Given the description of an element on the screen output the (x, y) to click on. 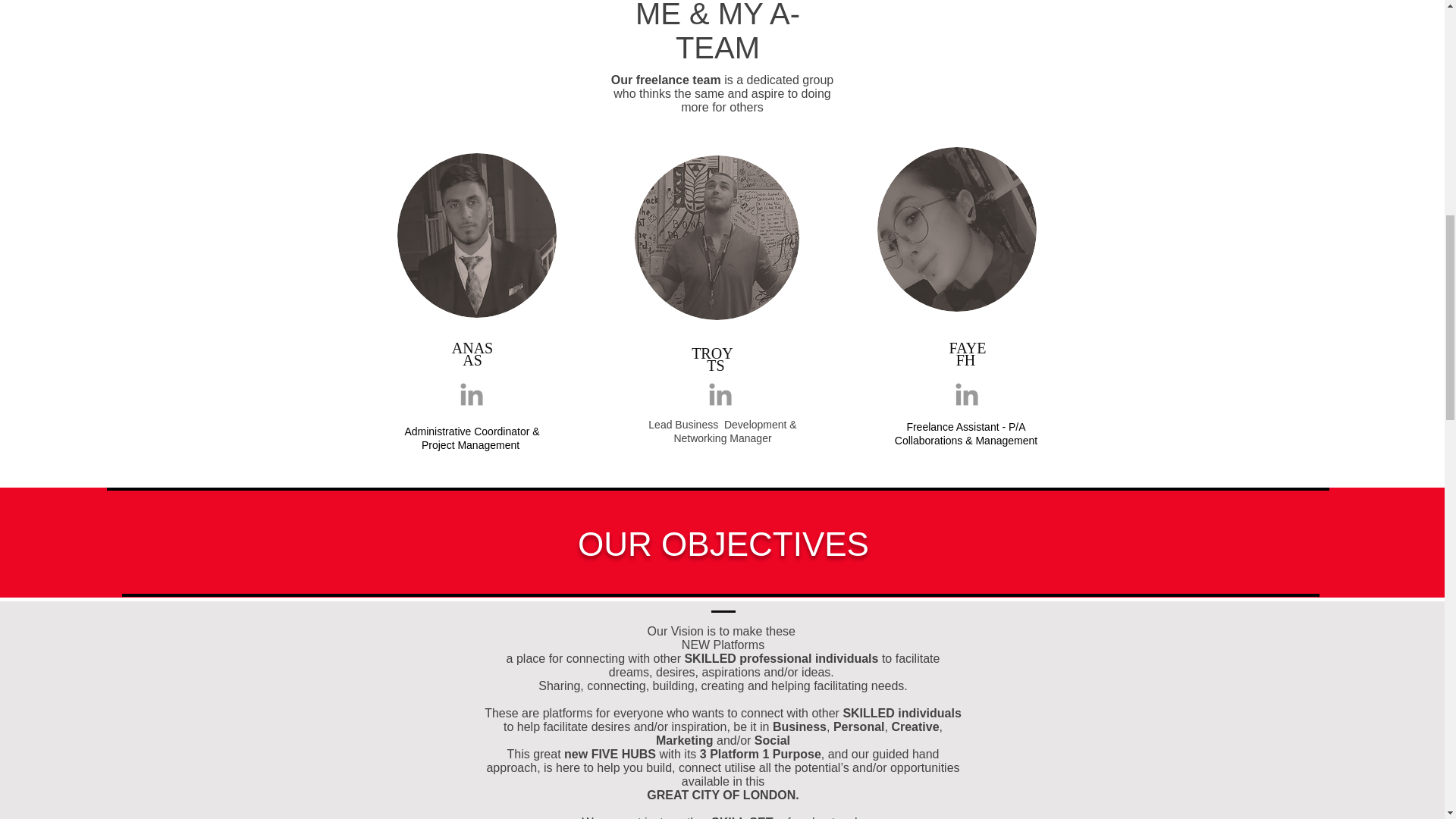
guy3.jpg (476, 235)
guy4.jpg (715, 237)
guy3.jpg (955, 229)
